Given the description of an element on the screen output the (x, y) to click on. 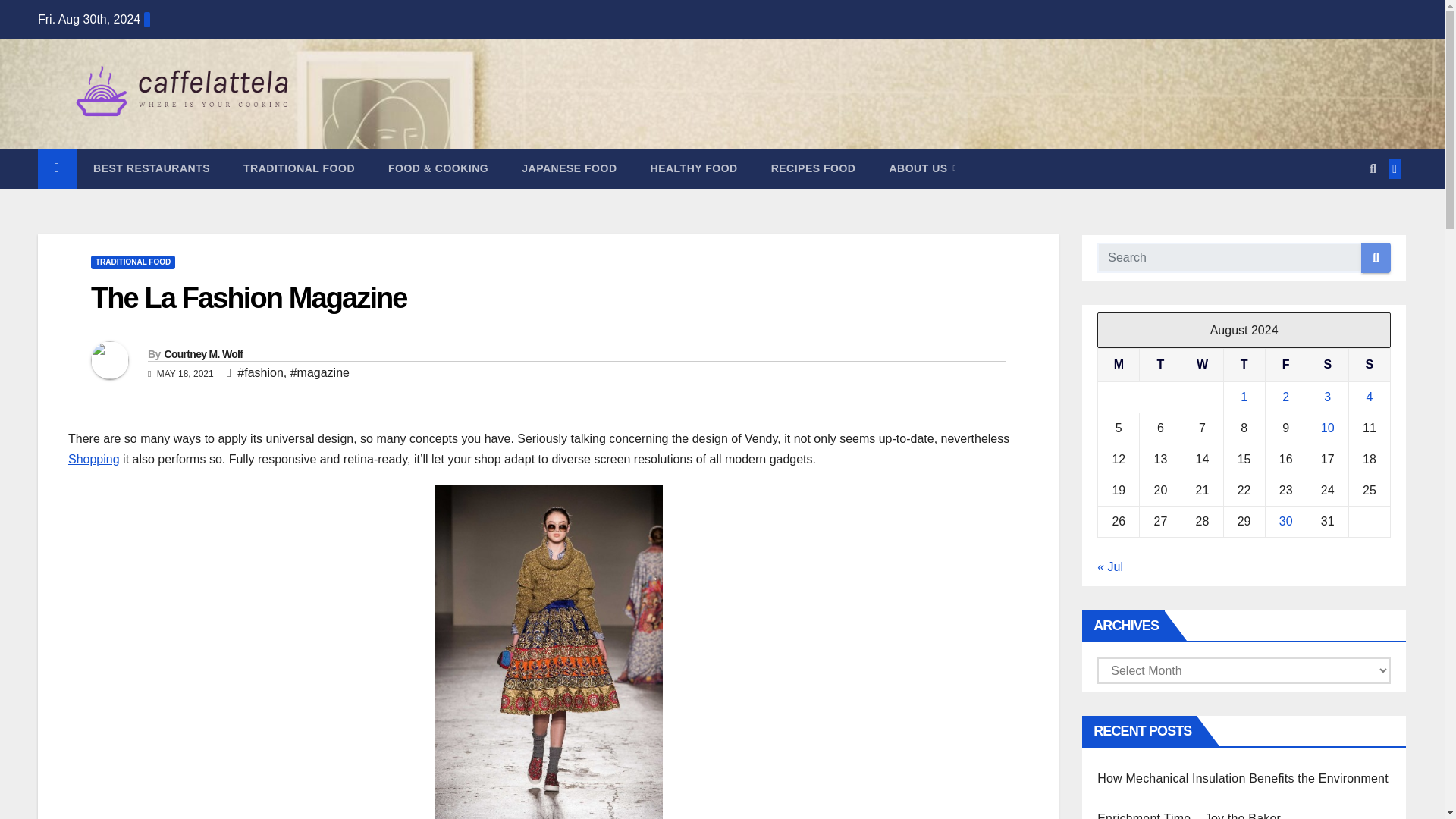
TRADITIONAL FOOD (299, 168)
The La Fashion Magazine (248, 297)
Shopping (93, 459)
RECIPES FOOD (813, 168)
About Us (922, 168)
Japanese Food (569, 168)
JAPANESE FOOD (569, 168)
TRADITIONAL FOOD (132, 262)
Permalink to: The La Fashion Magazine (248, 297)
Healthy Food (693, 168)
